Given the description of an element on the screen output the (x, y) to click on. 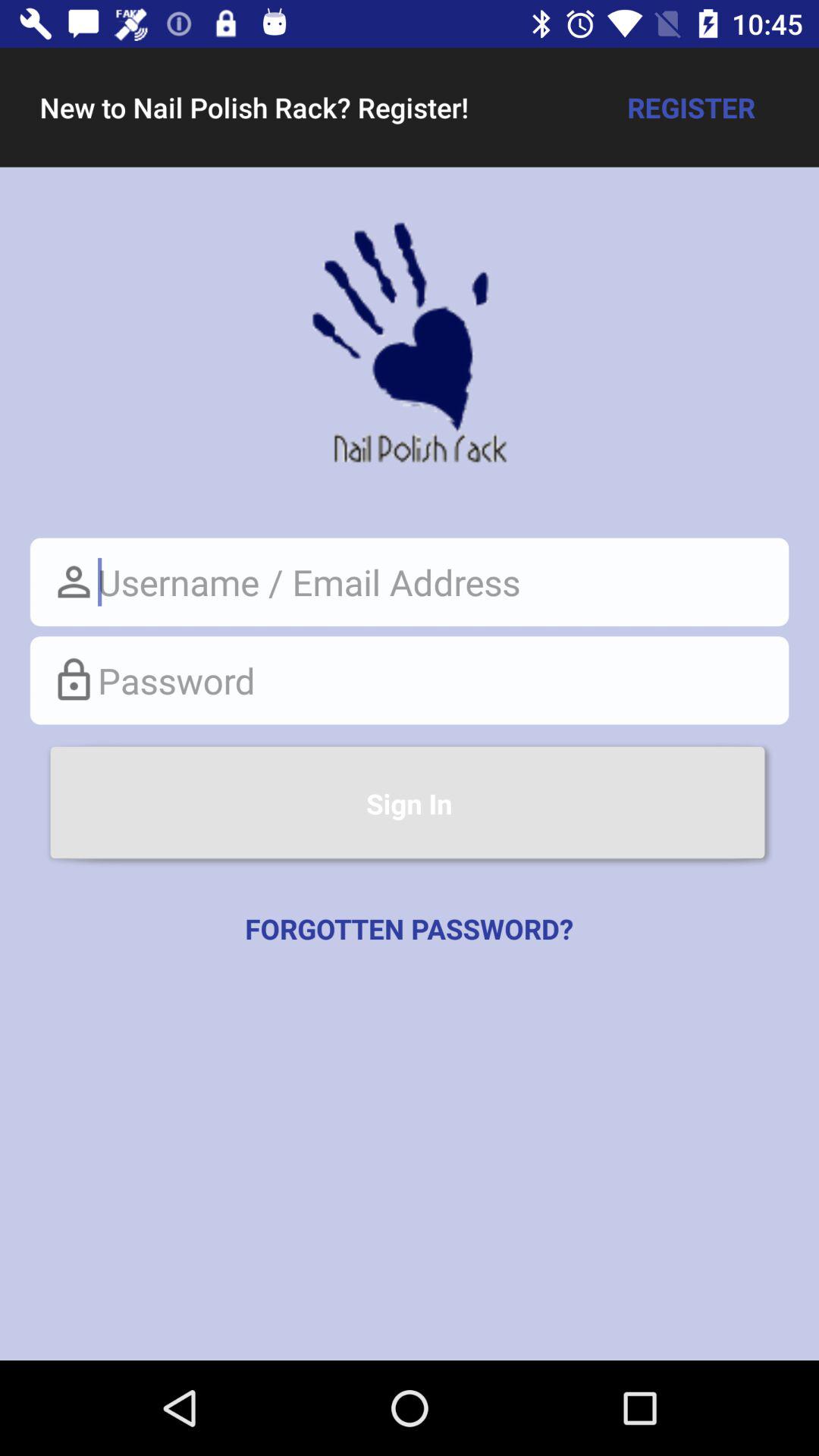
place cursor (409, 680)
